Given the description of an element on the screen output the (x, y) to click on. 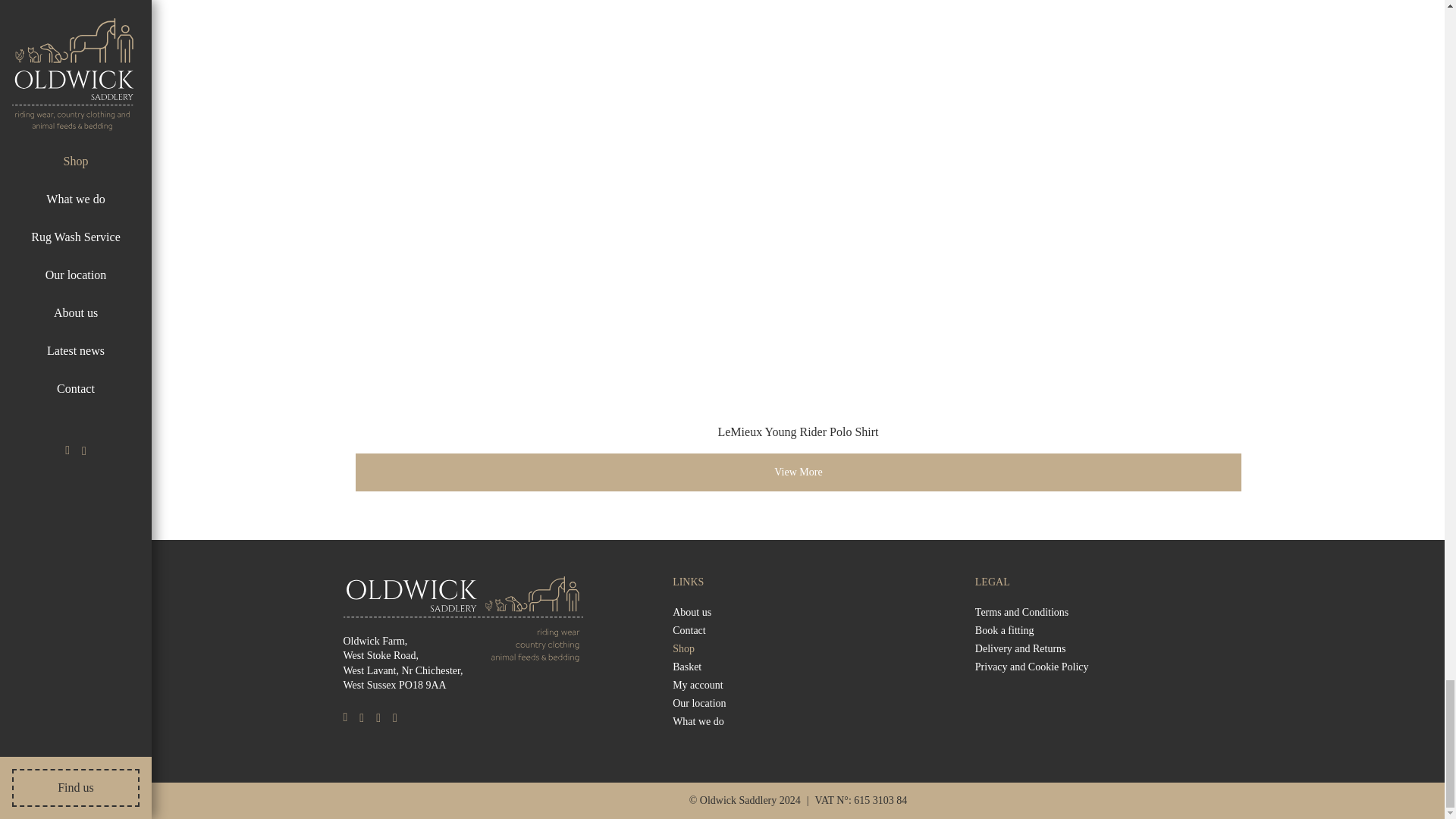
My account (697, 685)
What we do (697, 721)
Contact (689, 630)
Terms and Conditions (1021, 612)
View More (797, 472)
Oldwick Saddlery (462, 609)
About us (691, 612)
Book a fitting (1004, 630)
Basket (686, 666)
Our location (698, 703)
Shop (683, 648)
